Given the description of an element on the screen output the (x, y) to click on. 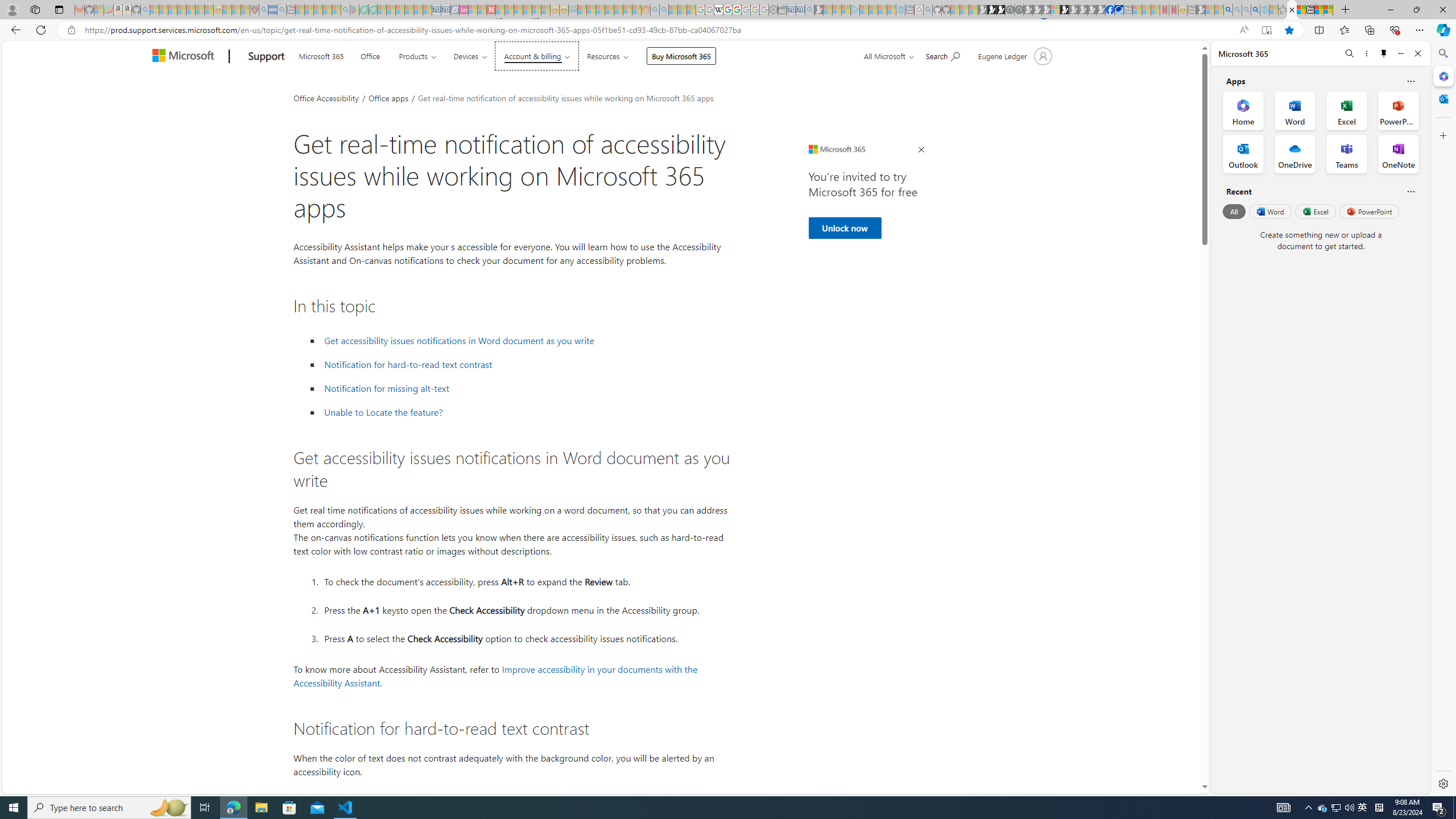
Unable to Locate the feature? (525, 412)
Office (370, 54)
Buy Microsoft 365 (681, 55)
Home | Sky Blue Bikes - Sky Blue Bikes - Sleeping (900, 9)
Favorites - Sleeping (1283, 9)
Close Outlook pane (1442, 98)
